Given the description of an element on the screen output the (x, y) to click on. 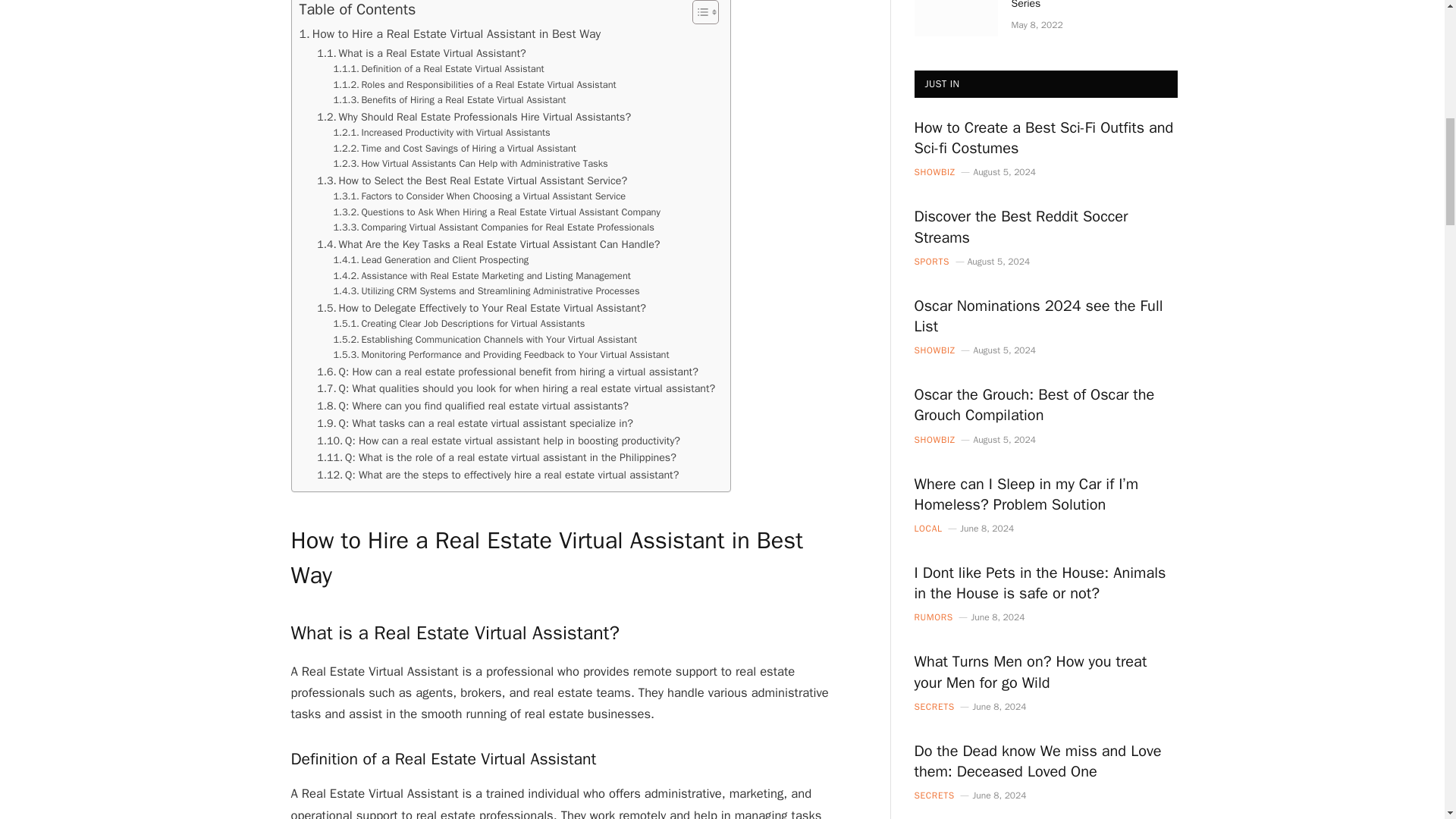
Definition of a Real Estate Virtual Assistant (438, 68)
What is a Real Estate Virtual Assistant? (421, 53)
Increased Productivity with Virtual Assistants (441, 132)
How to Hire a Real Estate Virtual Assistant in Best Way (448, 34)
Benefits of Hiring a Real Estate Virtual Assistant (449, 99)
How to Hire a Real Estate Virtual Assistant in Best Way (448, 34)
What is a Real Estate Virtual Assistant? (421, 53)
